Given the description of an element on the screen output the (x, y) to click on. 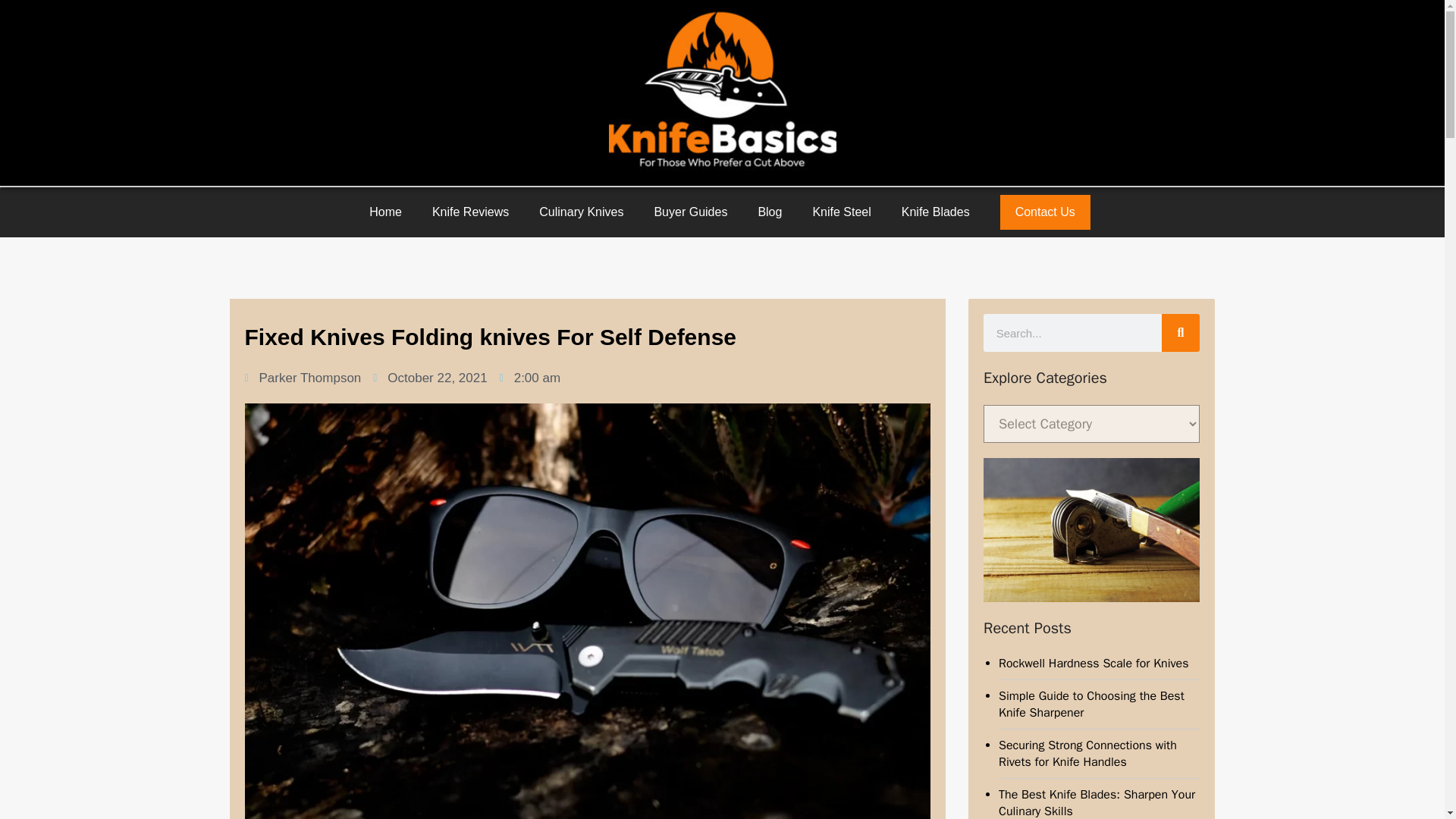
Contact Us (1045, 212)
October 22, 2021 (429, 378)
Blog (769, 212)
Knife Reviews (470, 212)
Search (1072, 332)
Knife Blades (935, 212)
Culinary Knives (581, 212)
Home (384, 212)
Parker Thompson (302, 378)
Search (1180, 332)
Buyer Guides (690, 212)
Knife Steel (840, 212)
